Given the description of an element on the screen output the (x, y) to click on. 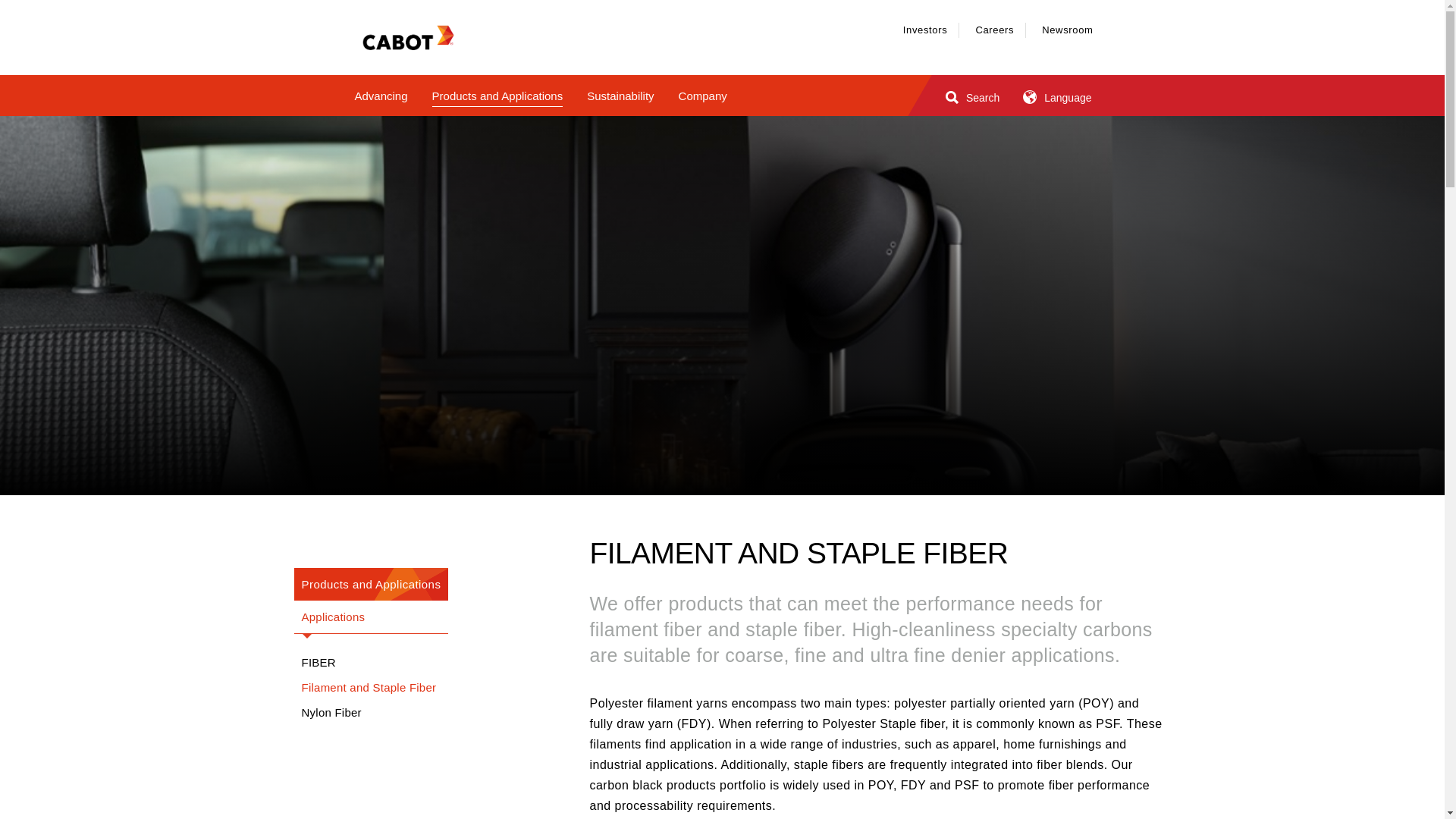
Investors (924, 30)
Sustainability (619, 97)
Advancing (381, 97)
Language (1053, 94)
Products and Applications (497, 97)
Company (702, 97)
Newsroom (1067, 30)
Careers (994, 30)
